Given the description of an element on the screen output the (x, y) to click on. 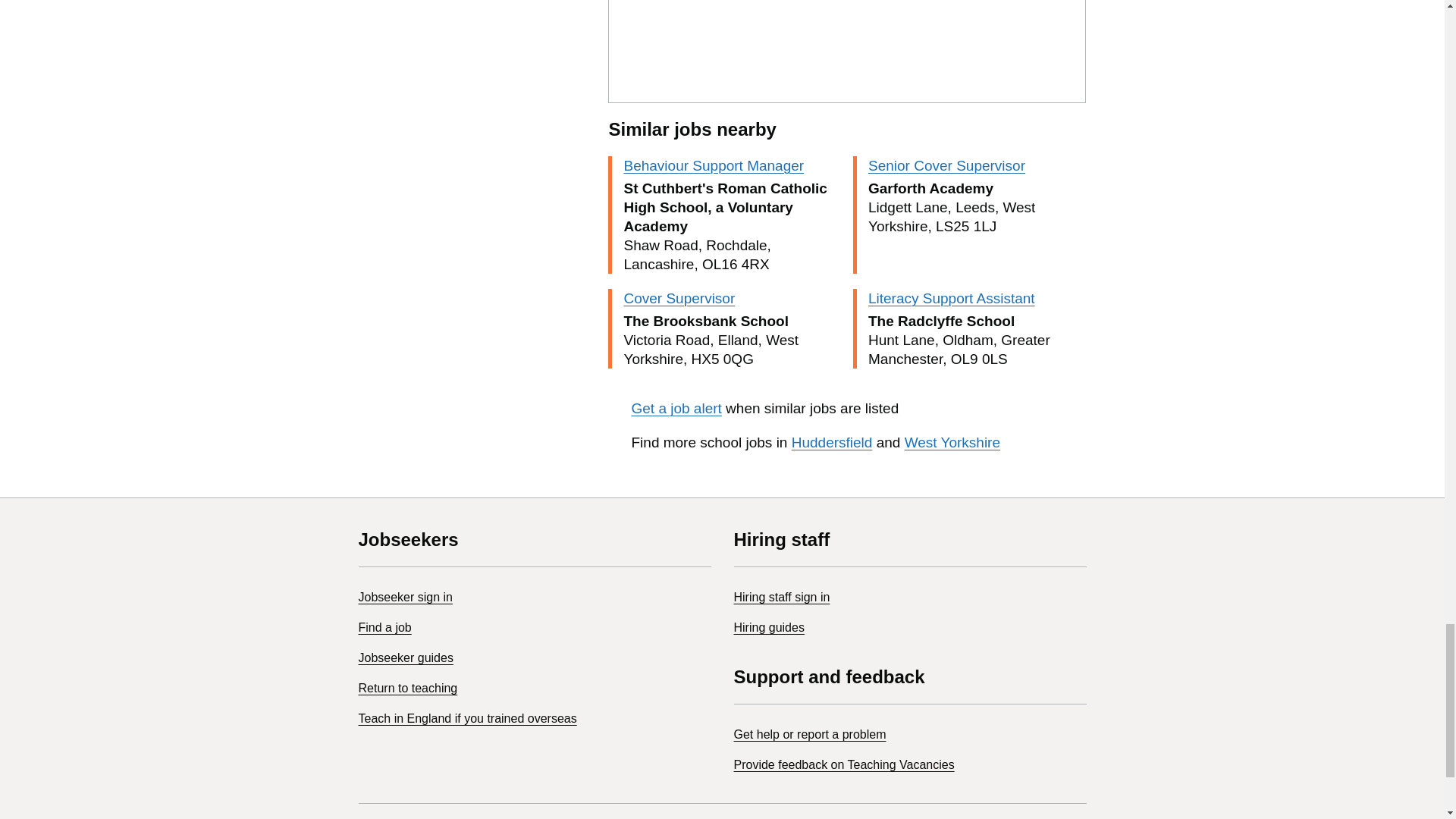
Huddersfield (832, 442)
Teach in England if you trained overseas (467, 717)
Hiring guides (769, 626)
Provide feedback on Teaching Vacancies (844, 764)
Literacy Support Assistant (951, 298)
West Yorkshire (952, 442)
Cover Supervisor (679, 298)
Get help or report a problem (809, 734)
Find a job (384, 626)
Return to teaching (407, 687)
Get a job alert (675, 408)
Behaviour Support Manager (713, 165)
Hiring staff sign in (781, 596)
Jobseeker guides (405, 657)
Jobseeker sign in (405, 596)
